Given the description of an element on the screen output the (x, y) to click on. 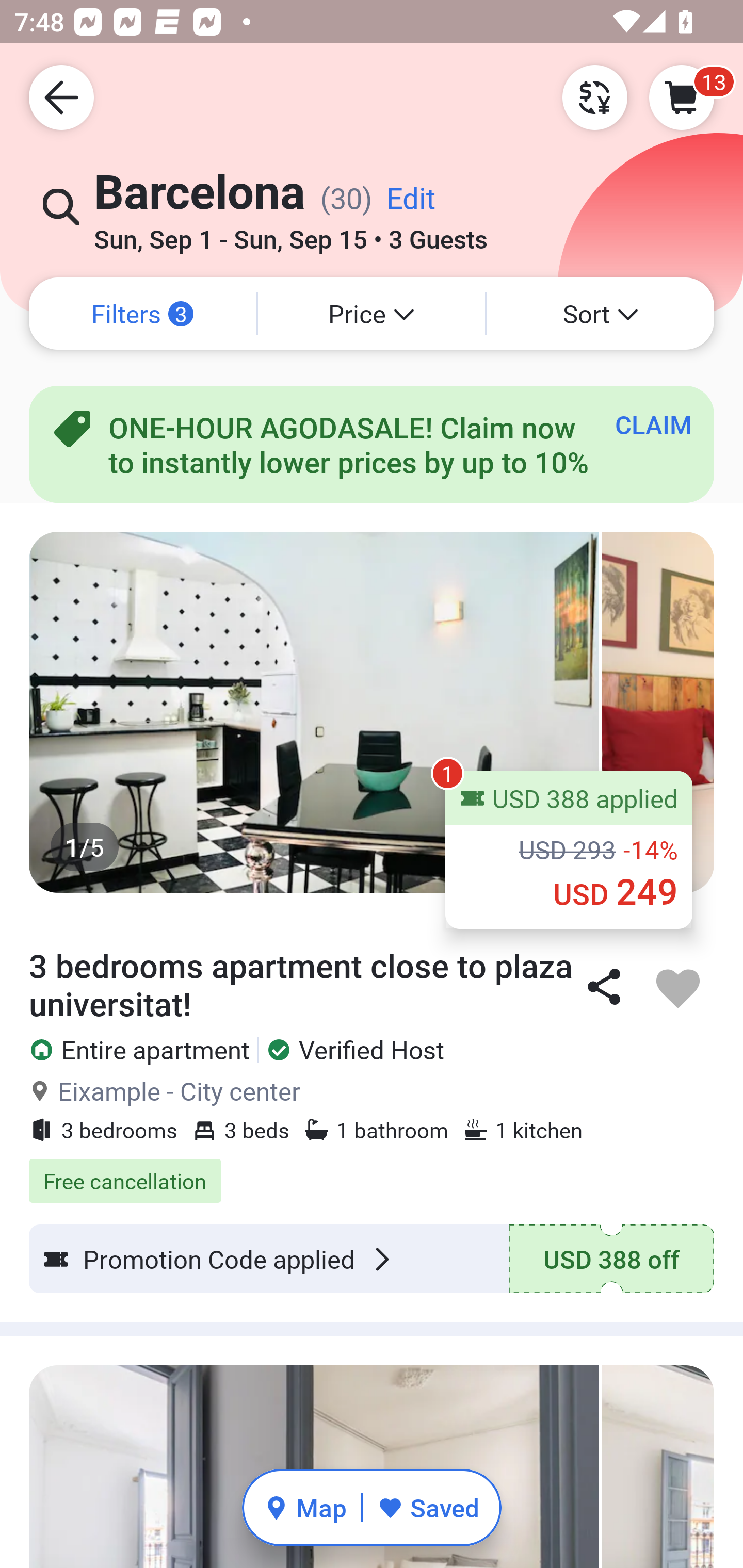
Filters 3 (141, 313)
Price (371, 313)
Sort (600, 313)
CLAIM (653, 424)
1/5 (371, 711)
USD 388 applied ‪USD 293 -14% ‪USD 249 1 (568, 849)
Free cancellation (371, 1170)
Promotion Code applied USD 388 off (371, 1259)
Map (305, 1507)
Saved (428, 1507)
